Given the description of an element on the screen output the (x, y) to click on. 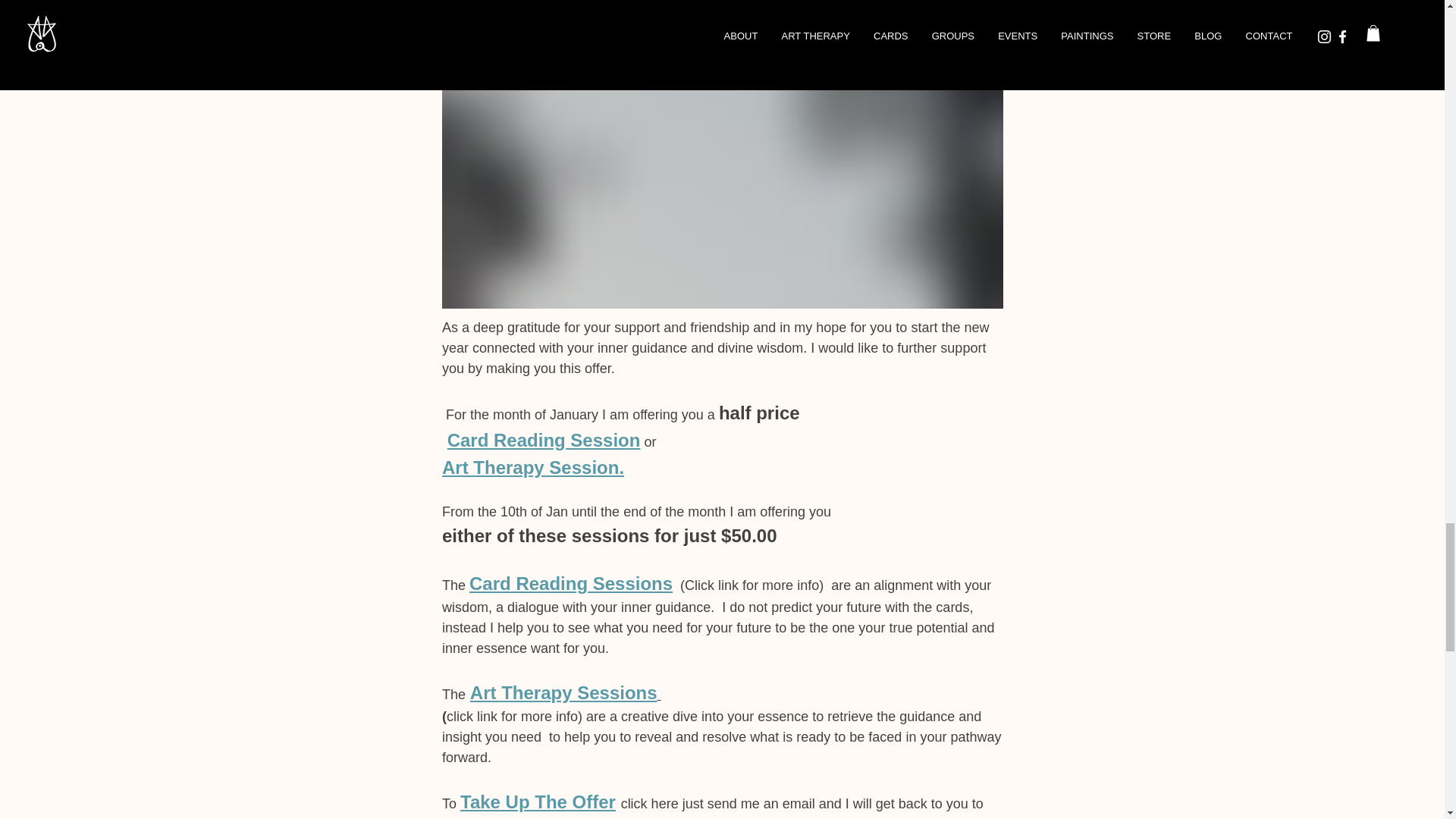
Take Up The Offer (537, 802)
Art Therapy Sessions (562, 693)
Card Reading Sessions (570, 584)
Card Reading Session (543, 441)
Art Therapy Session. (532, 468)
